Given the description of an element on the screen output the (x, y) to click on. 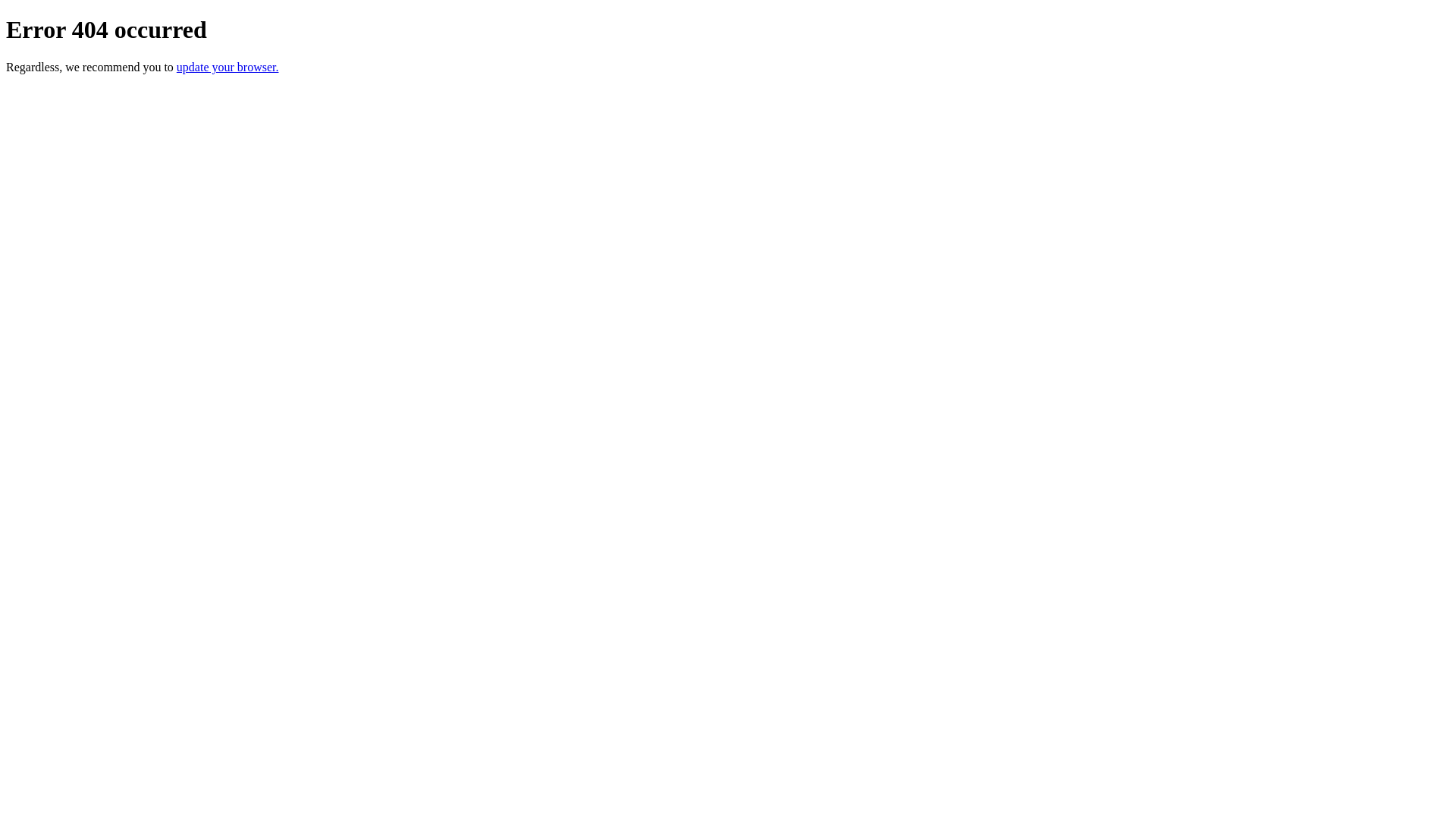
update your browser. Element type: text (227, 66)
